Given the description of an element on the screen output the (x, y) to click on. 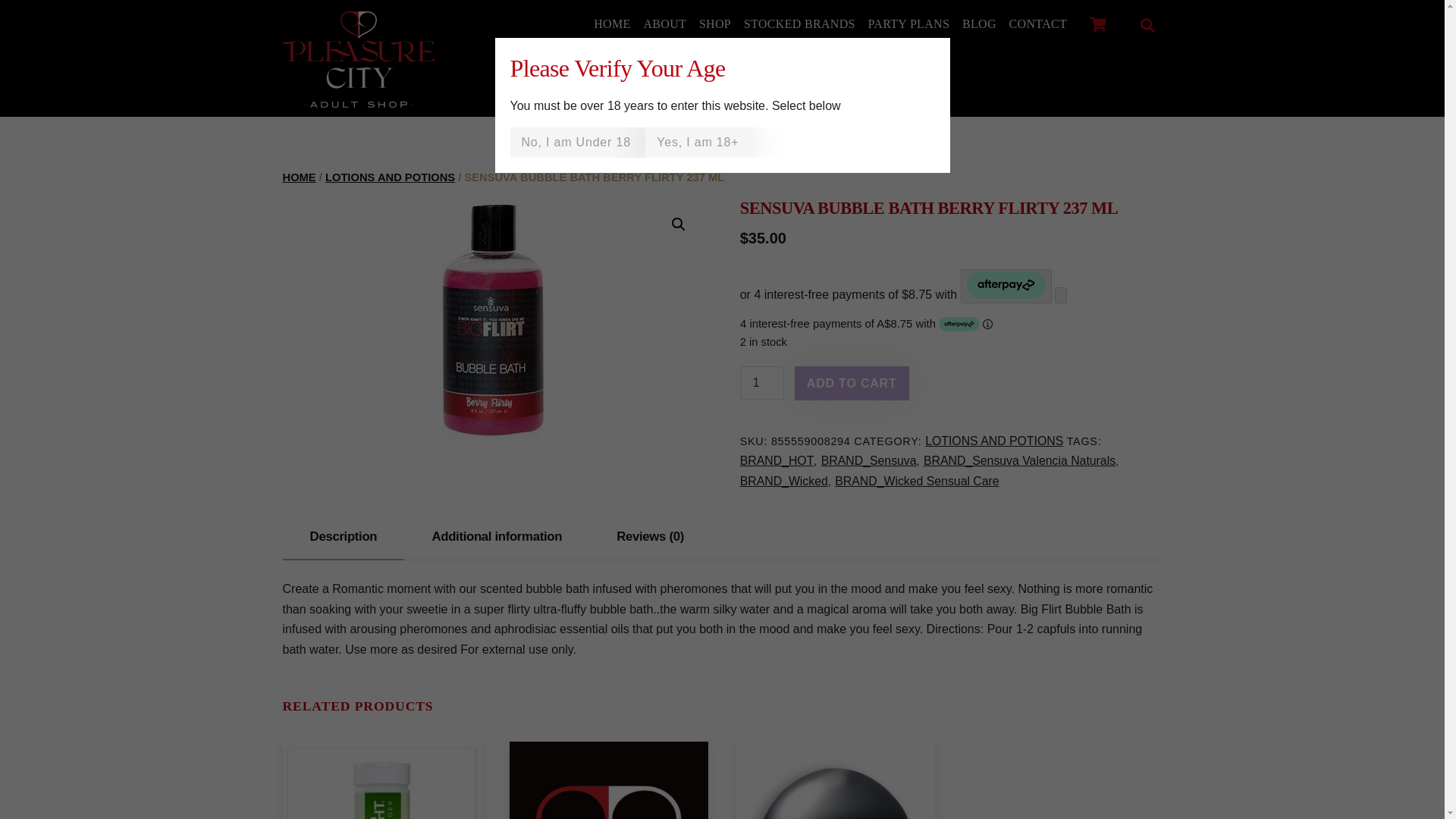
Description (343, 536)
Additional information (496, 536)
Payment method messaging (947, 323)
STOCKED BRANDS (799, 24)
CONTACT (1037, 24)
ABOUT (665, 24)
LOTIONS AND POTIONS (389, 177)
Search (1142, 24)
ADD TO CART (851, 383)
HOME (298, 177)
LOTIONS AND POTIONS (993, 440)
HOME (611, 24)
BLOG (979, 24)
1 (761, 382)
